Given the description of an element on the screen output the (x, y) to click on. 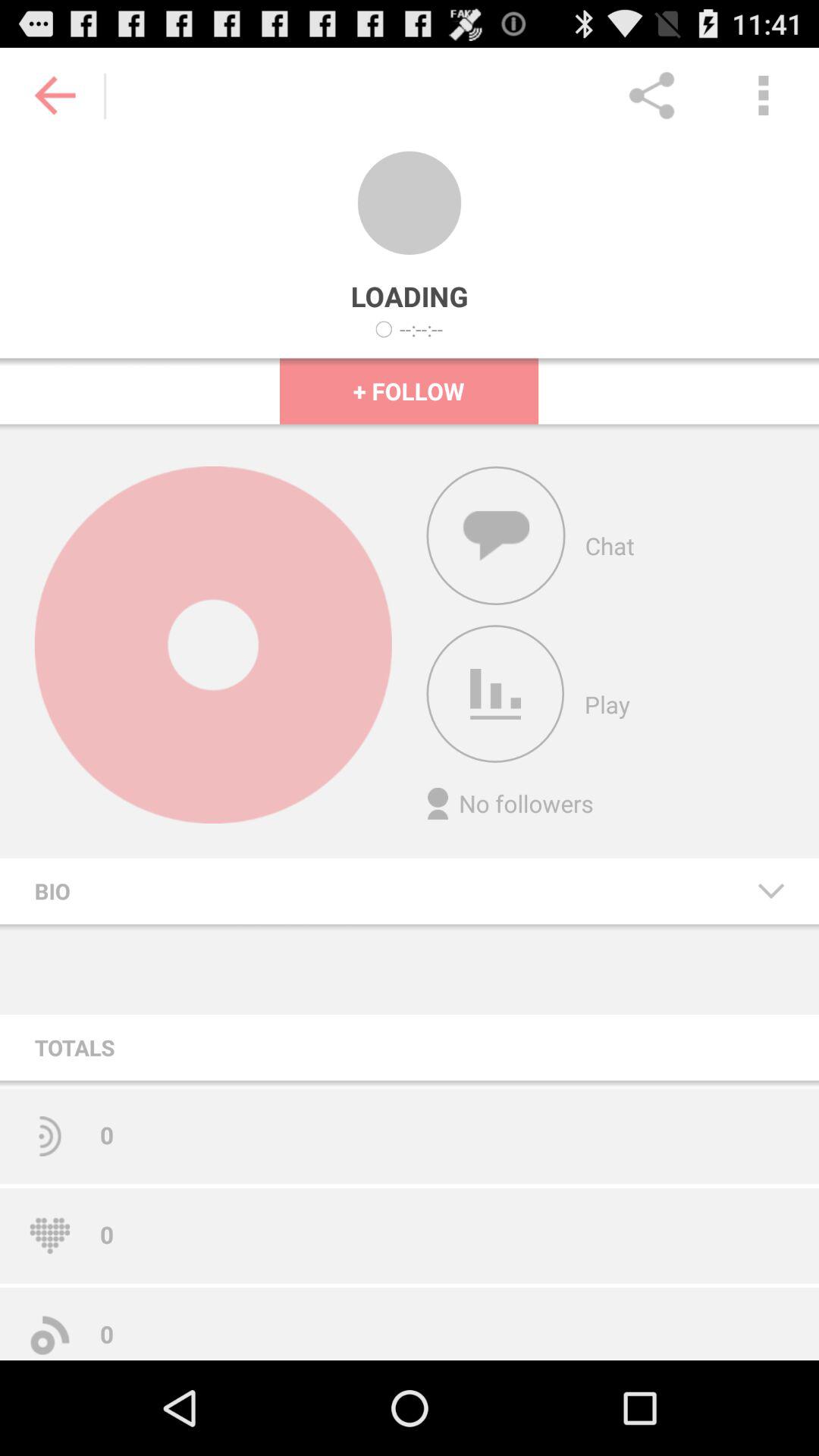
click the --:--:-- icon (421, 329)
